Given the description of an element on the screen output the (x, y) to click on. 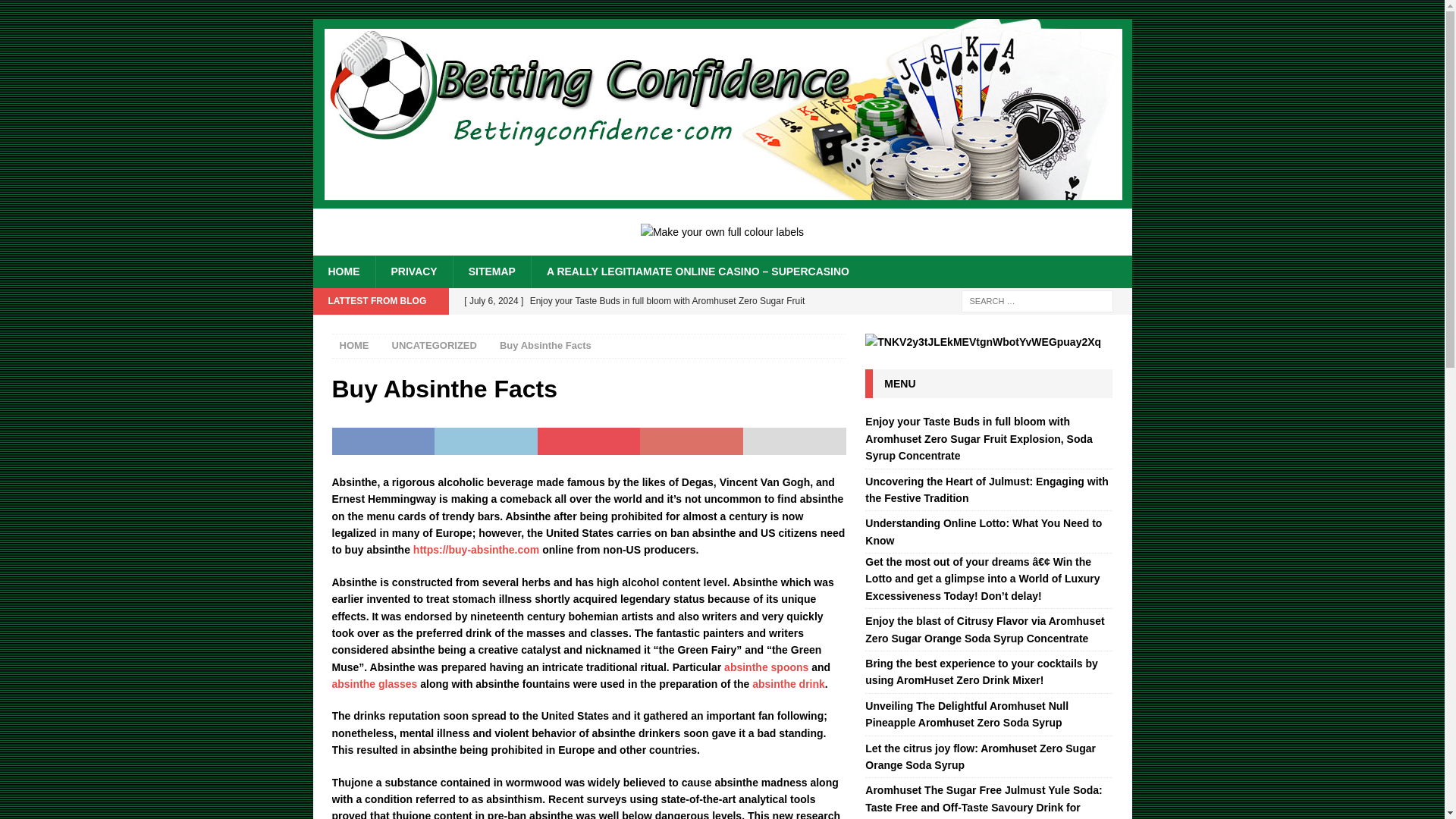
HOME (343, 271)
absinthe glasses (374, 684)
SITEMAP (491, 271)
bettingconfidence (722, 200)
absinthe spoons (765, 666)
absinthe drink (788, 684)
HOME (354, 345)
UNCATEGORIZED (433, 345)
PRIVACY (412, 271)
Search (56, 11)
Make your own full colour labels (721, 231)
